Given the description of an element on the screen output the (x, y) to click on. 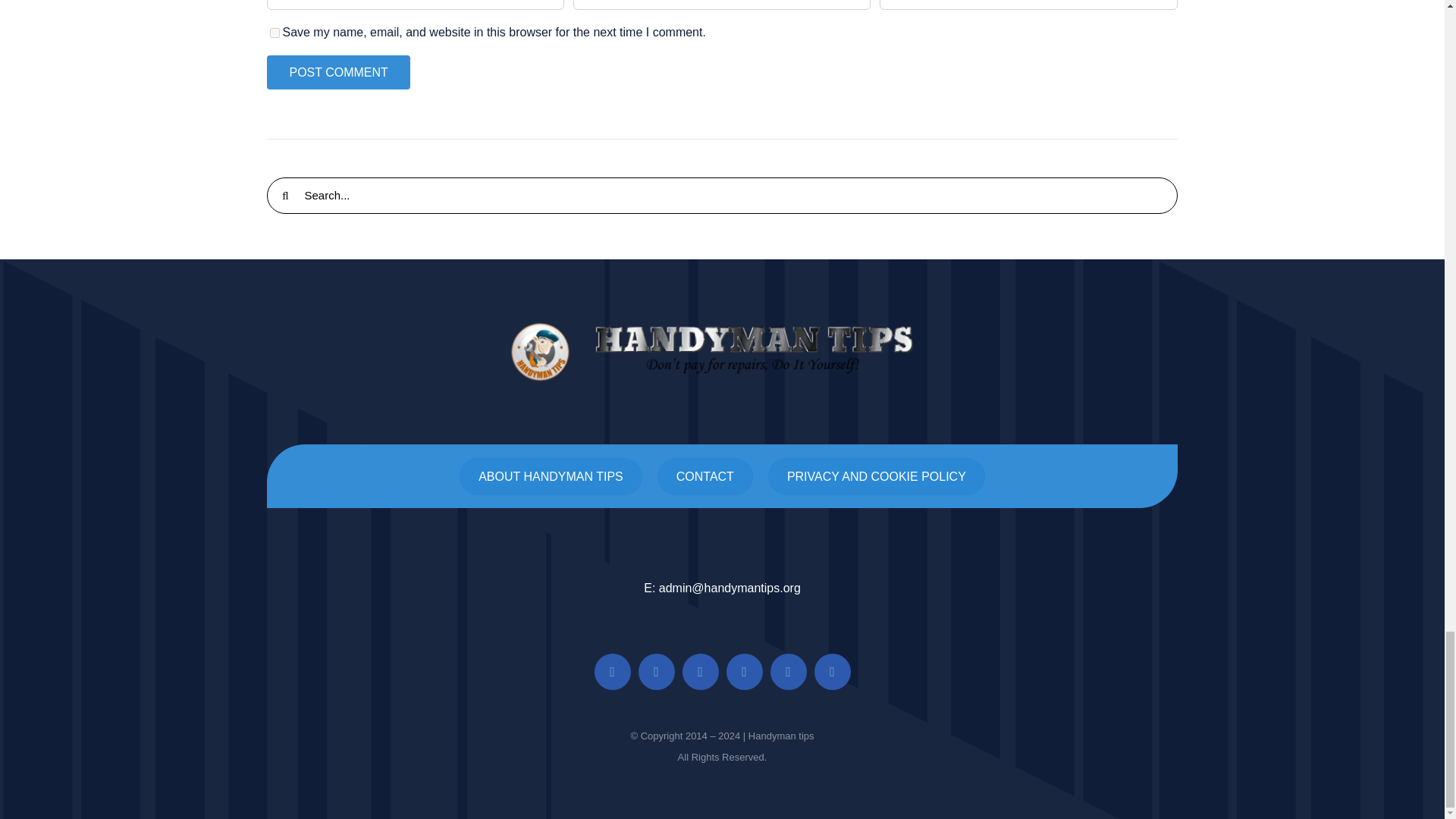
yes (274, 32)
CONTACT (705, 476)
Post Comment (337, 72)
ABOUT HANDYMAN TIPS (551, 476)
PRIVACY AND COOKIE POLICY (876, 476)
Handyman tips header new (721, 352)
Post Comment (337, 72)
